Given the description of an element on the screen output the (x, y) to click on. 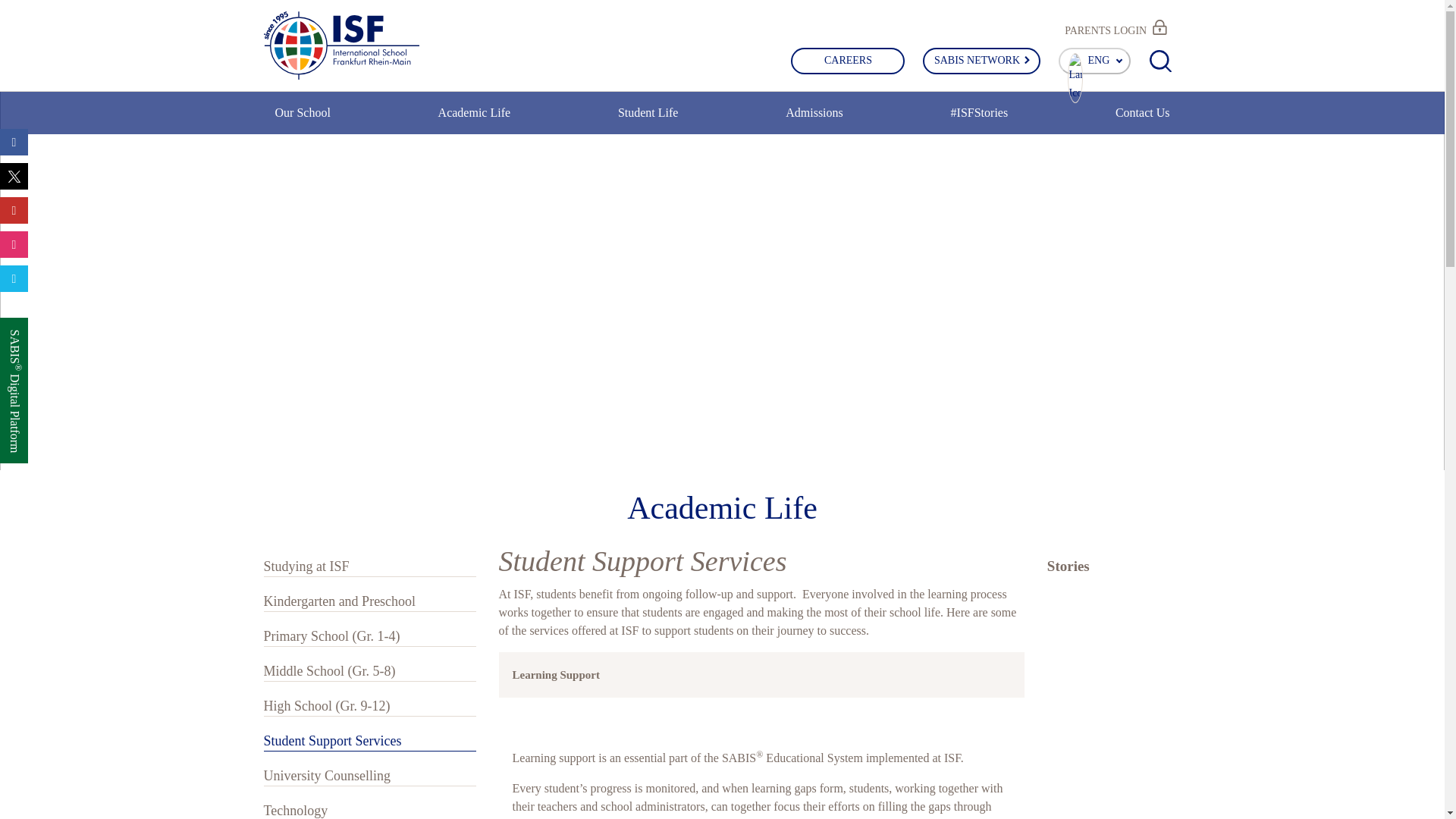
Student Life (647, 120)
Our School (302, 120)
Academic Life (474, 120)
Contact Us (1142, 120)
CAREERS (847, 59)
ENG (1094, 59)
SABIS NETWORK (982, 59)
PARENTS LOGIN (1116, 26)
Admissions (814, 120)
